Given the description of an element on the screen output the (x, y) to click on. 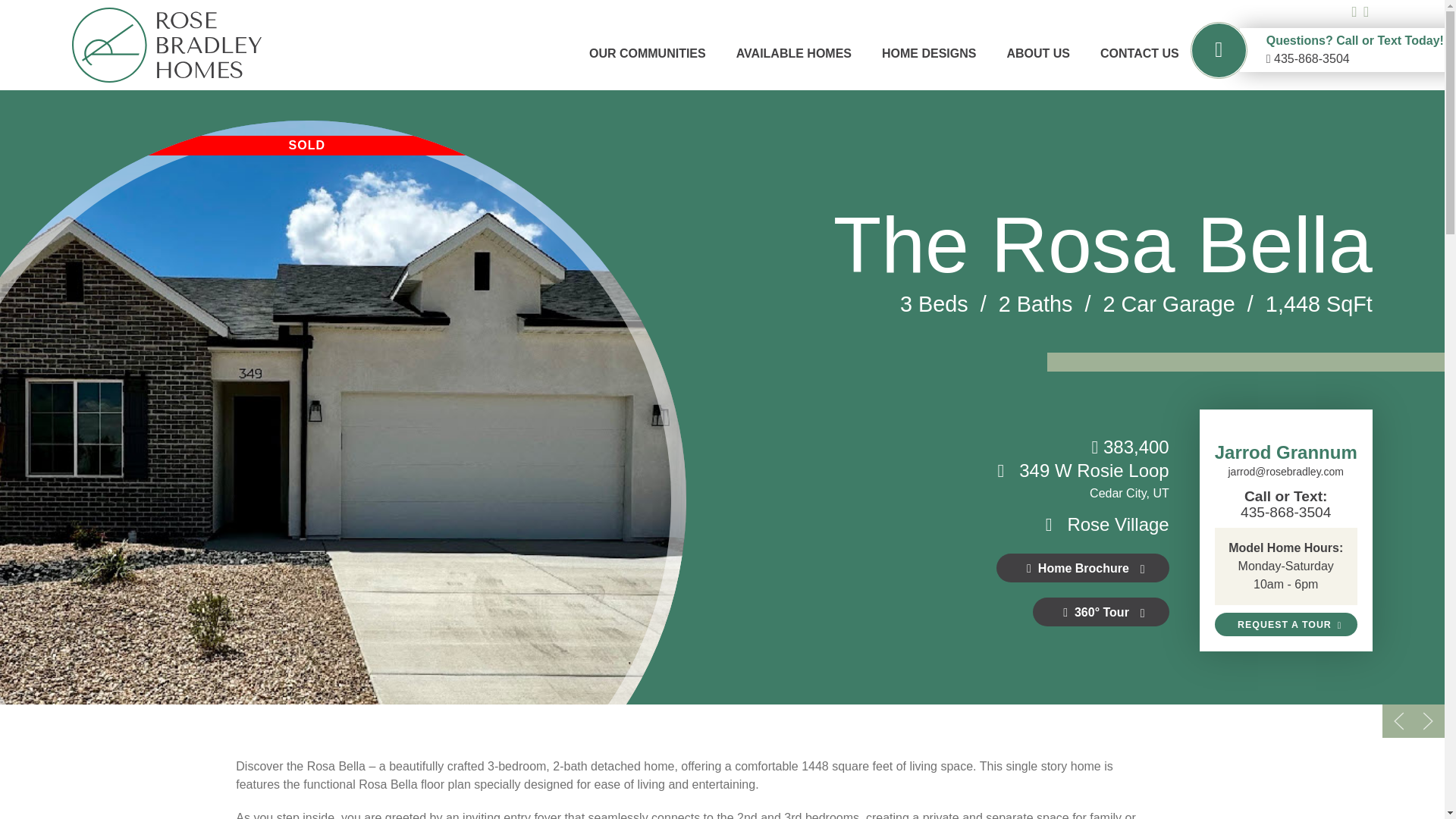
OUR COMMUNITIES (647, 53)
Home Brochure (1082, 567)
 Home Brochure (1082, 567)
ABOUT US (1038, 53)
435-868-3504 (1286, 512)
REQUEST A TOUR (1285, 623)
Virtual Tour (1100, 611)
AVAILABLE HOMES (794, 53)
HOME DESIGNS (928, 53)
CONTACT US (1139, 53)
